Given the description of an element on the screen output the (x, y) to click on. 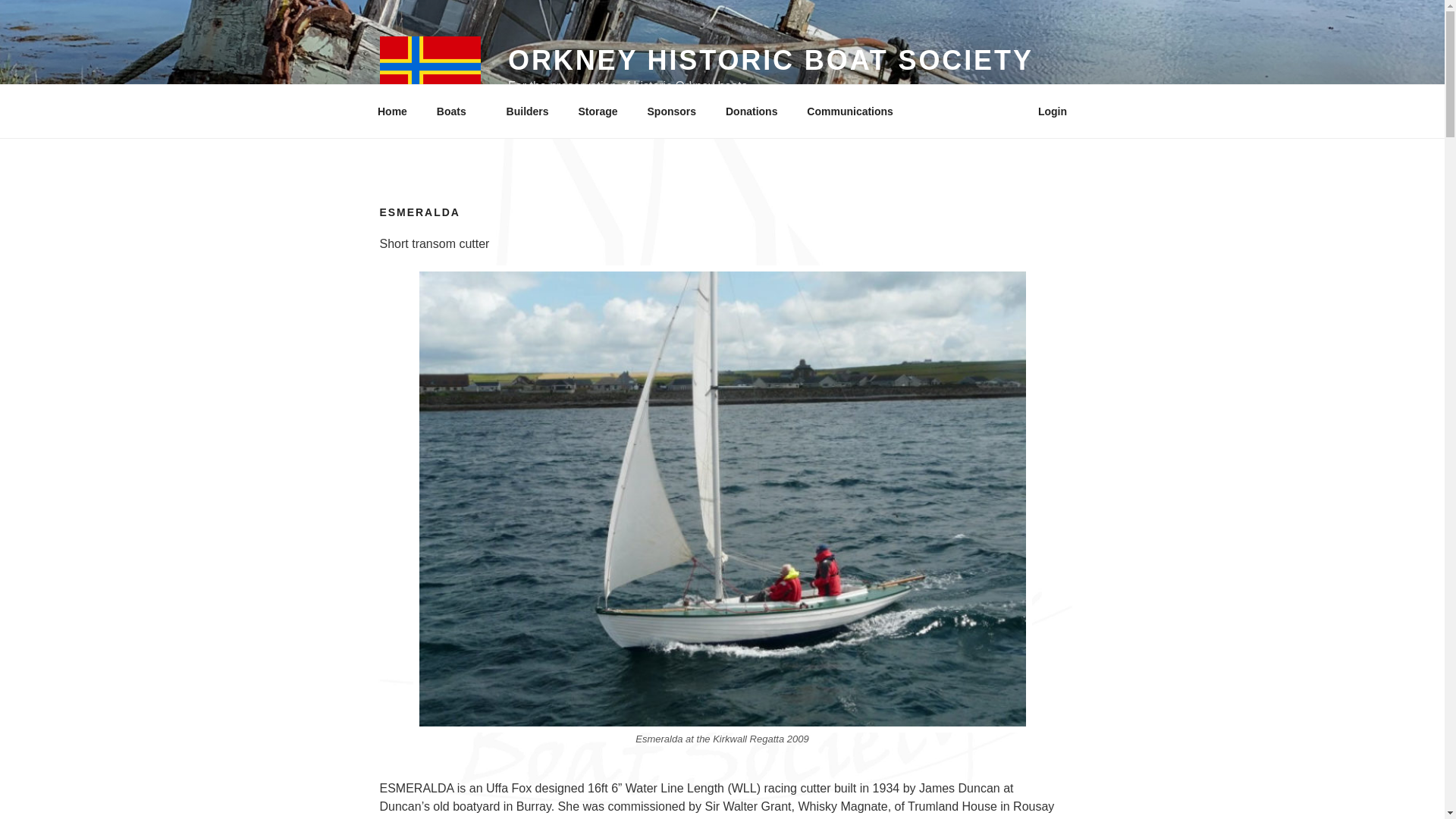
Login (1052, 110)
Sponsors (671, 110)
Home (392, 110)
ORKNEY HISTORIC BOAT SOCIETY (770, 60)
Storage (597, 110)
Boats (456, 110)
Communications (855, 110)
Donations (750, 110)
Builders (527, 110)
